Given the description of an element on the screen output the (x, y) to click on. 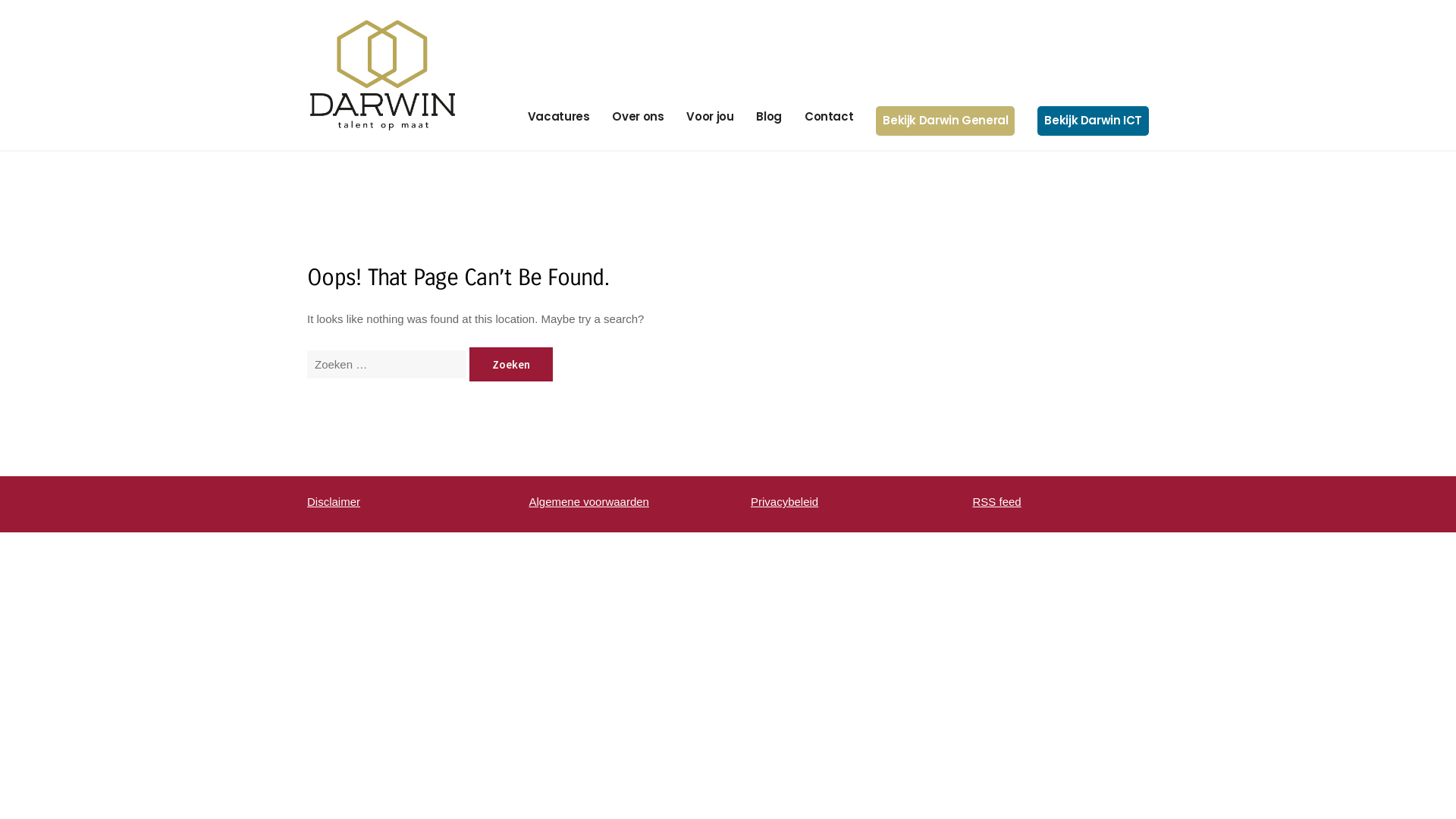
Vacatures Element type: text (558, 115)
Blog Element type: text (768, 115)
Over ons Element type: text (637, 115)
Bekijk Darwin General Element type: text (944, 119)
Zoeken Element type: text (510, 364)
Privacybeleid Element type: text (784, 501)
Voor jou Element type: text (709, 115)
Bekijk Darwin ICT Element type: text (1093, 119)
RSS feed Element type: text (996, 501)
Algemene voorwaarden Element type: text (589, 501)
Disclaimer Element type: text (333, 501)
Contact Element type: text (828, 115)
